Given the description of an element on the screen output the (x, y) to click on. 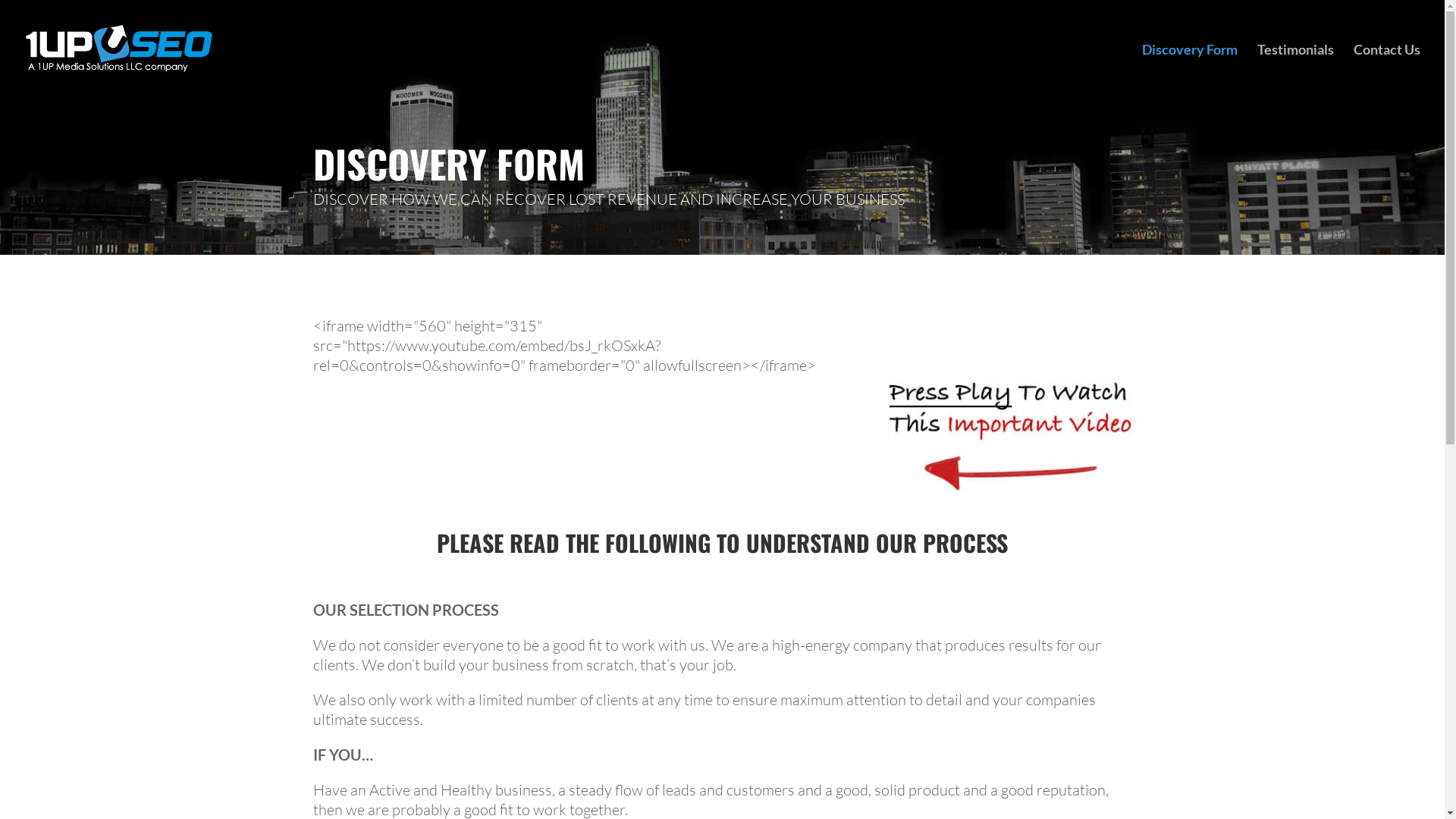
Discovery Form Element type: text (1189, 70)
Testimonials Element type: text (1295, 70)
Contact Us Element type: text (1386, 70)
